Given the description of an element on the screen output the (x, y) to click on. 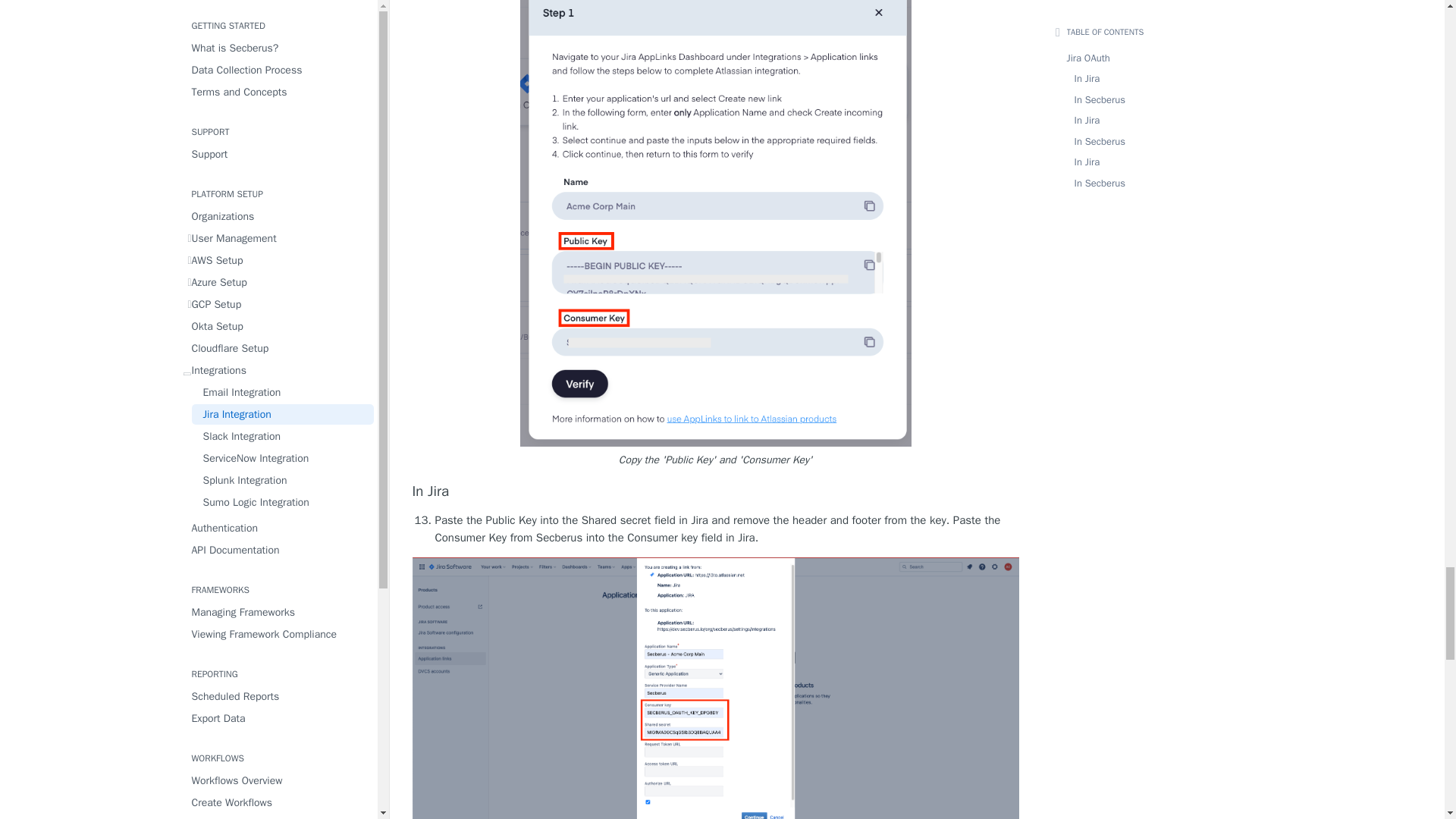
In Jira (715, 491)
